Given the description of an element on the screen output the (x, y) to click on. 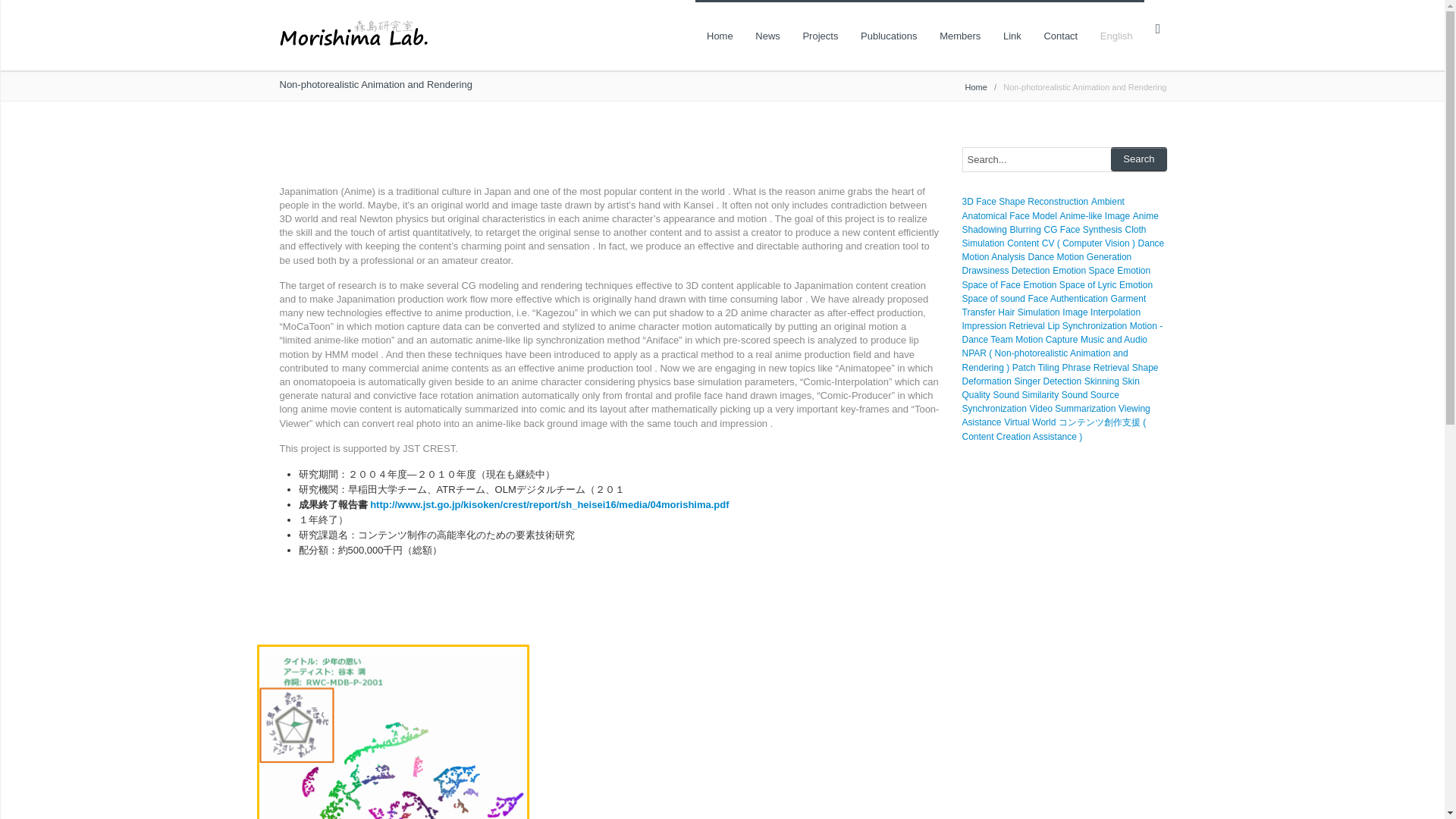
Search (1138, 159)
Home (975, 86)
Members (959, 35)
Search... (1063, 159)
Publucations (888, 35)
